Given the description of an element on the screen output the (x, y) to click on. 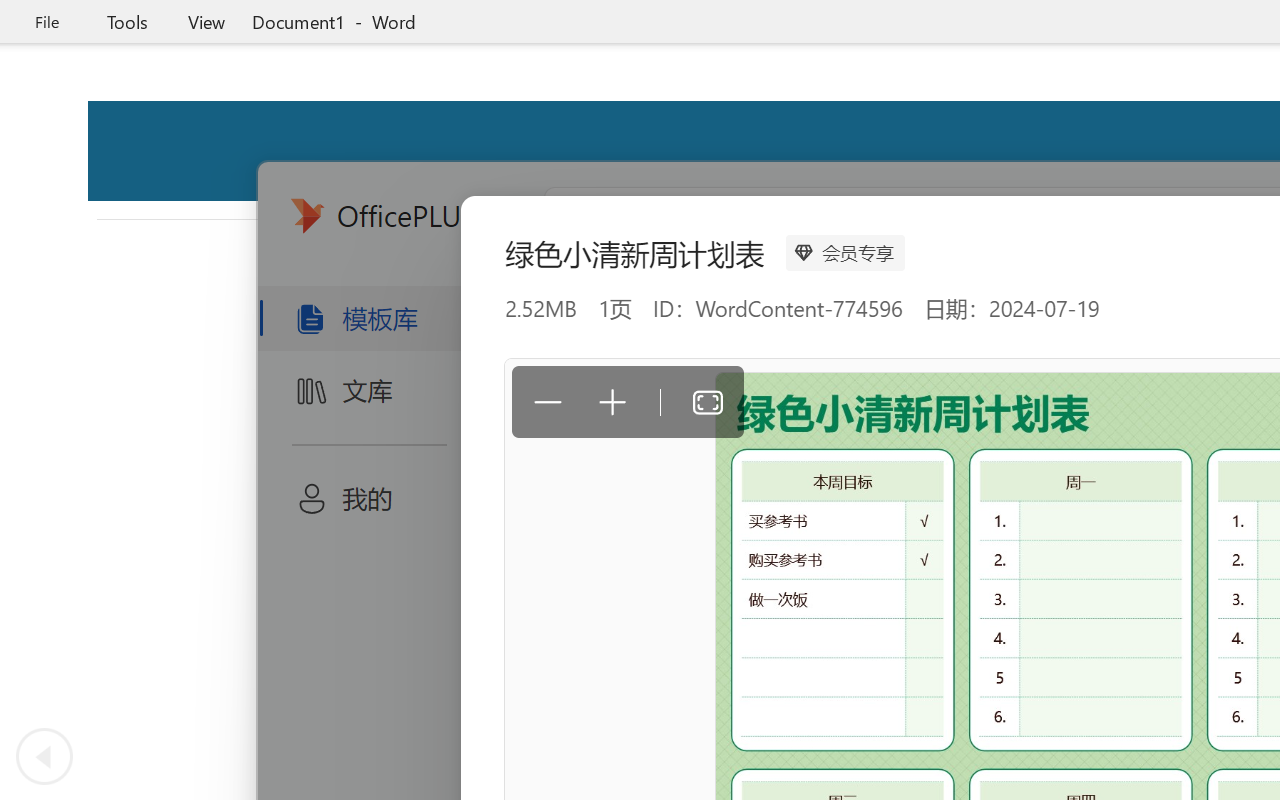
Tools (127, 21)
